Given the description of an element on the screen output the (x, y) to click on. 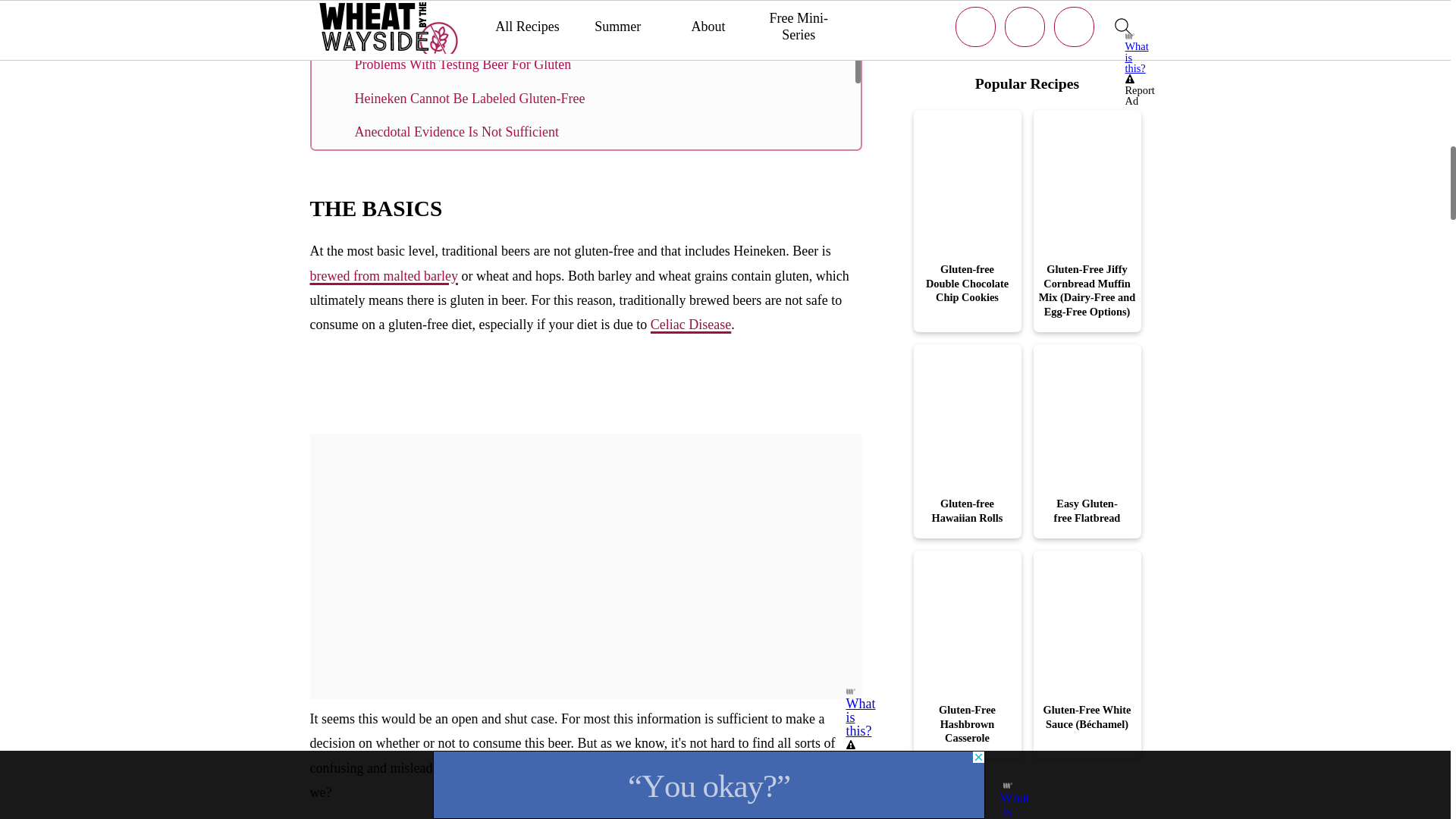
3rd party ad content (584, 399)
